Given the description of an element on the screen output the (x, y) to click on. 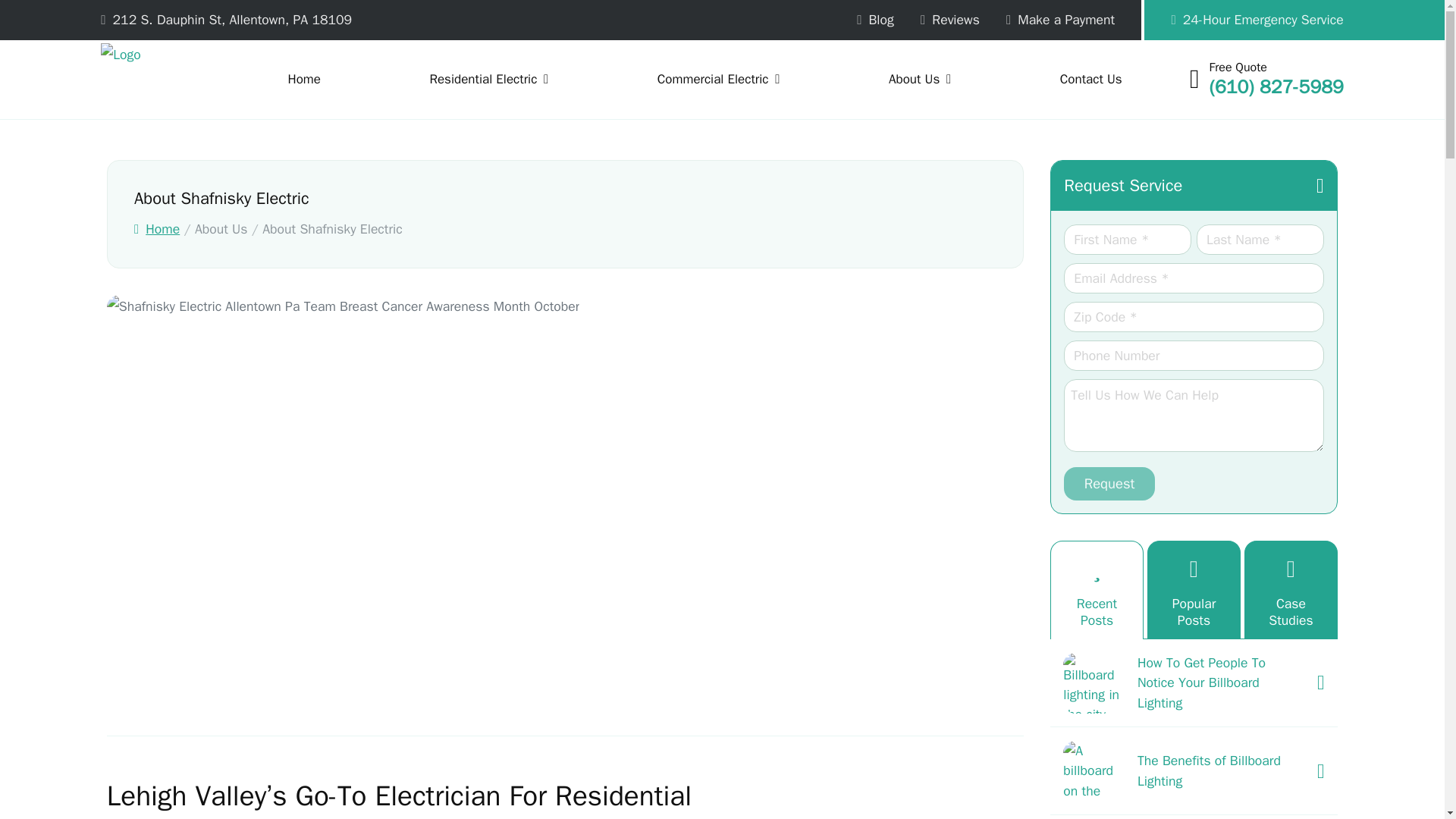
About Us (920, 79)
Commercial Electric (718, 79)
Great Billboard Lighting in Wilson, PA by Shafnisky Electric (1093, 771)
Make a Payment (1060, 19)
Request (1109, 483)
Nice Billboard Lighting in Wilson, PA by Shafnisky Electric (1093, 682)
Home (303, 79)
212 S. Dauphin St, Allentown, PA 18109 (232, 19)
Residential Electric (488, 79)
Shafnisky Electric Inc. Logo (159, 79)
Reviews (949, 19)
Test (718, 79)
24-Hour Emergency Service (1243, 19)
Blog (875, 19)
